Given the description of an element on the screen output the (x, y) to click on. 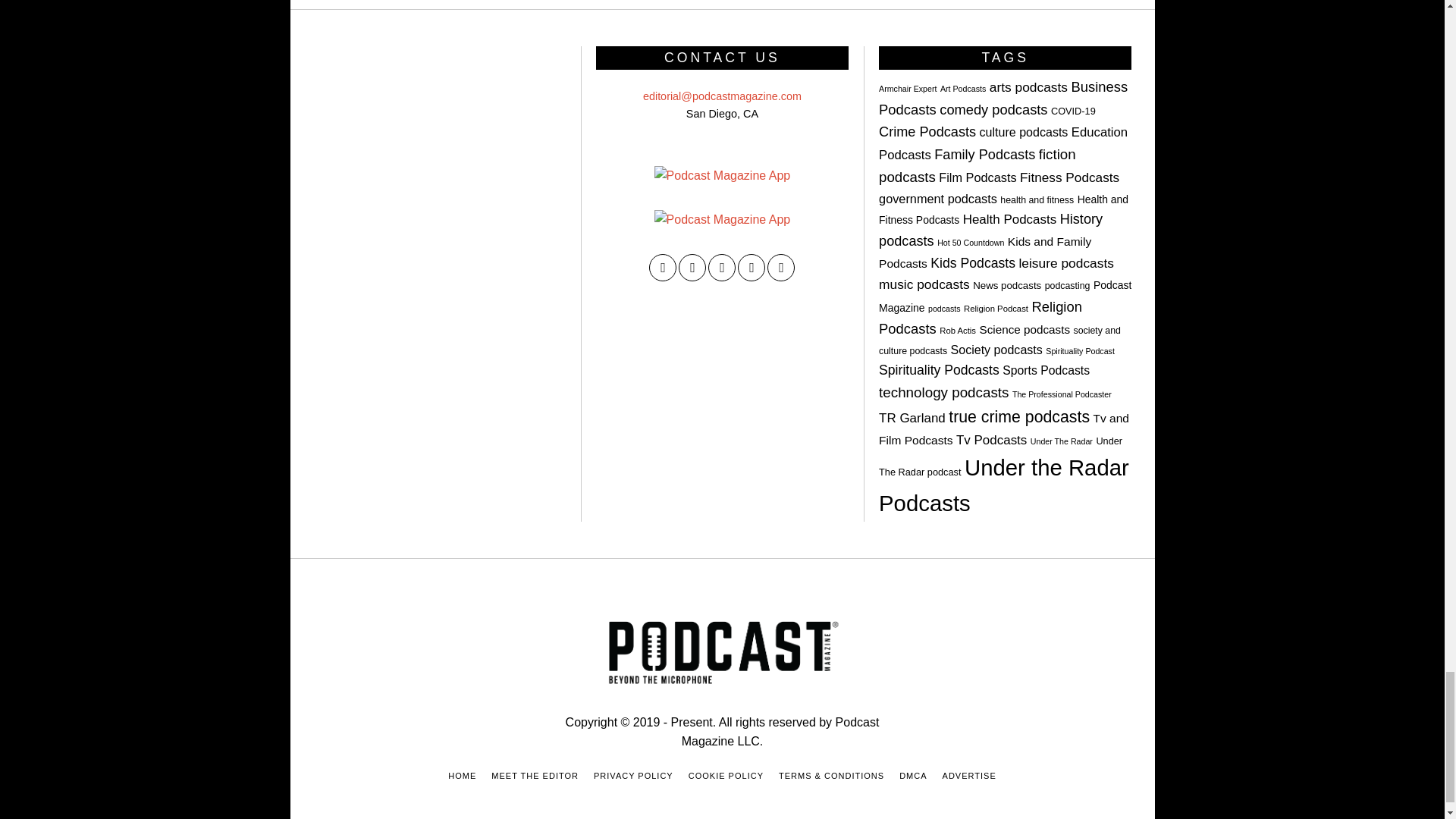
Twitter (692, 267)
Instagram (721, 267)
Facebook (663, 267)
Pinterest (751, 267)
